Given the description of an element on the screen output the (x, y) to click on. 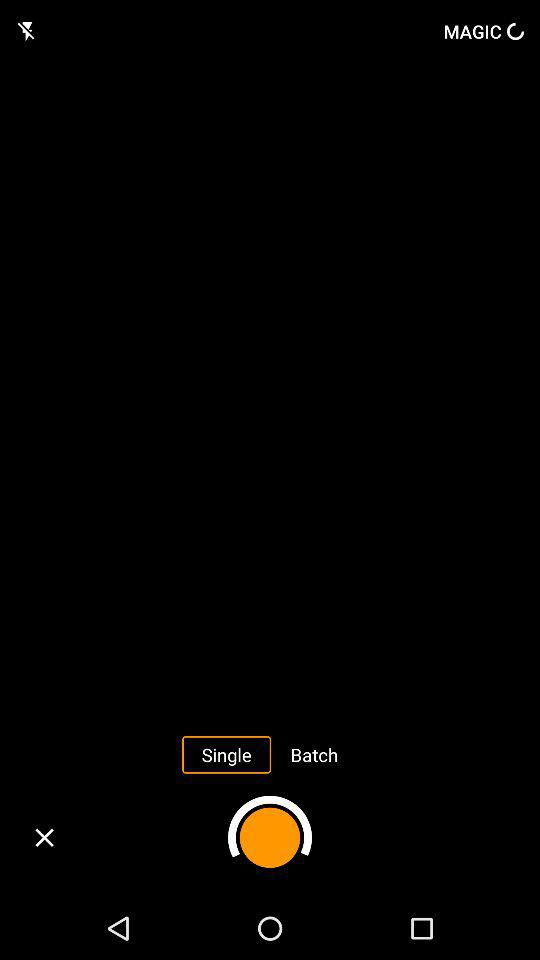
jump until magic icon (483, 31)
